Given the description of an element on the screen output the (x, y) to click on. 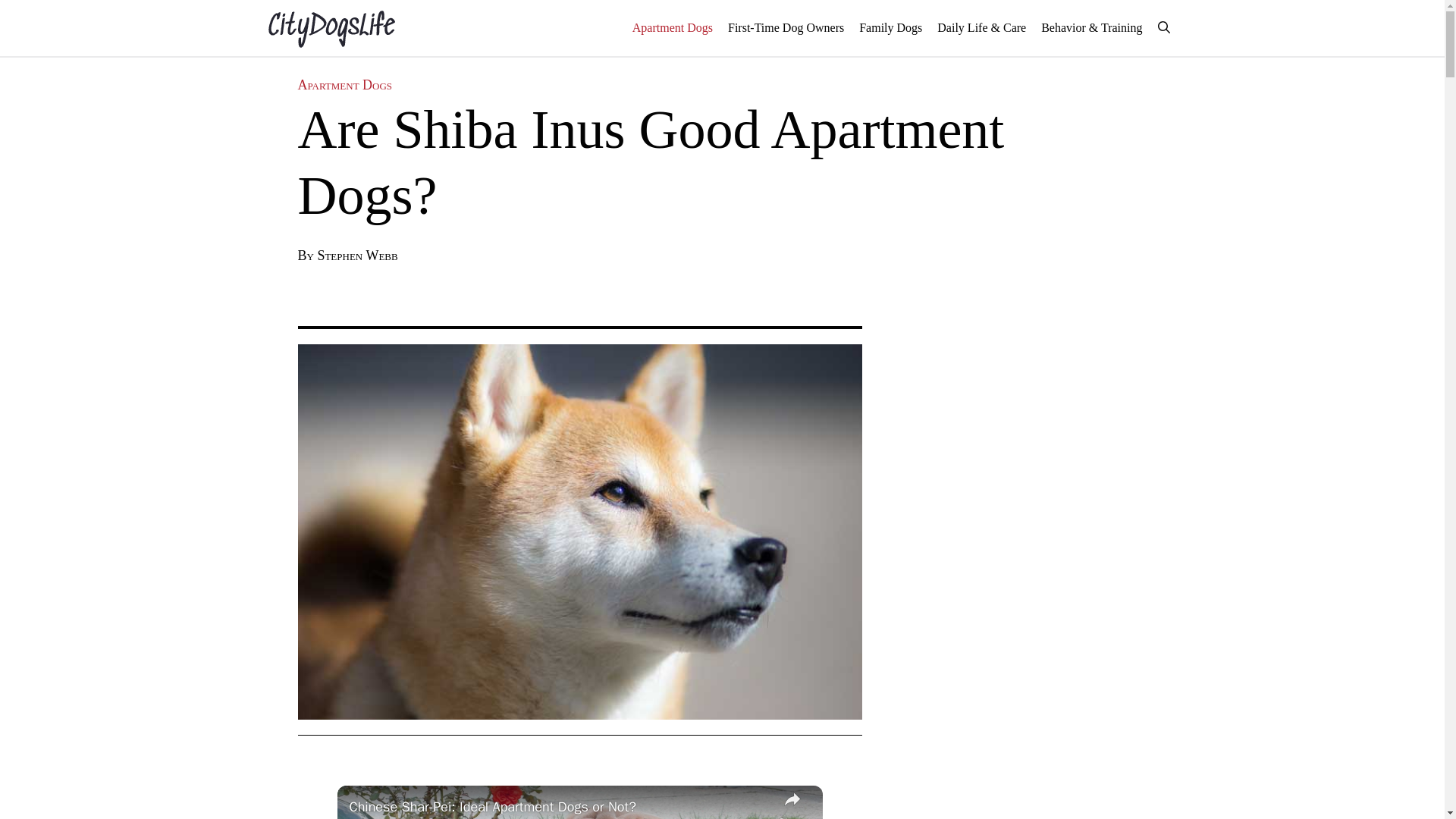
Stephen Webb (357, 255)
View all posts by Stephen Webb (357, 255)
Apartment Dogs (344, 84)
Apartment Dogs (672, 27)
Family Dogs (890, 27)
Chinese Shar-Pei: Ideal Apartment Dogs or Not? (559, 806)
First-Time Dog Owners (785, 27)
